Given the description of an element on the screen output the (x, y) to click on. 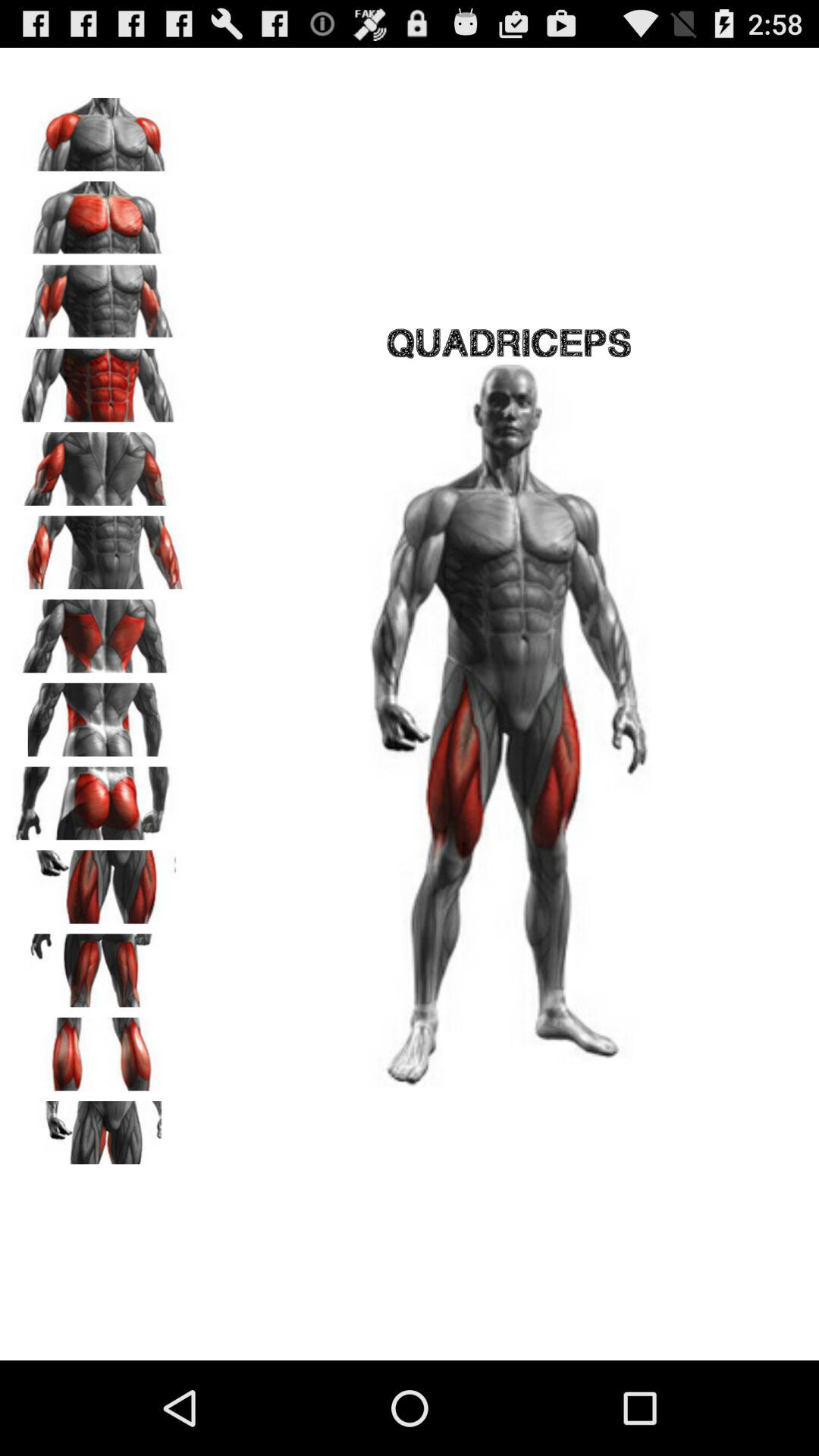
select triceps (99, 463)
